Given the description of an element on the screen output the (x, y) to click on. 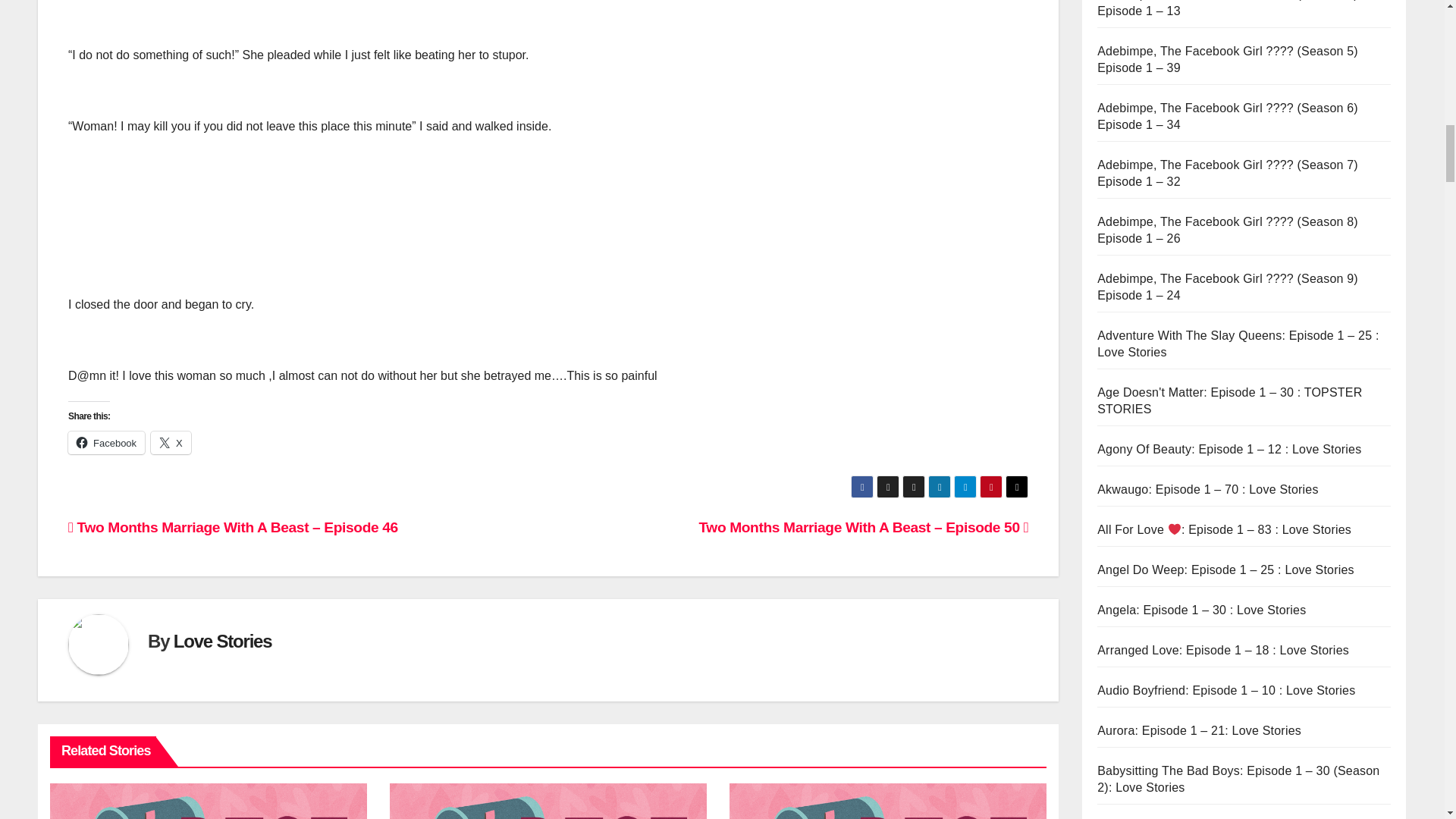
Facebook (106, 442)
Love Stories (222, 640)
X (170, 442)
Click to share on Facebook (106, 442)
Click to share on X (170, 442)
